Given the description of an element on the screen output the (x, y) to click on. 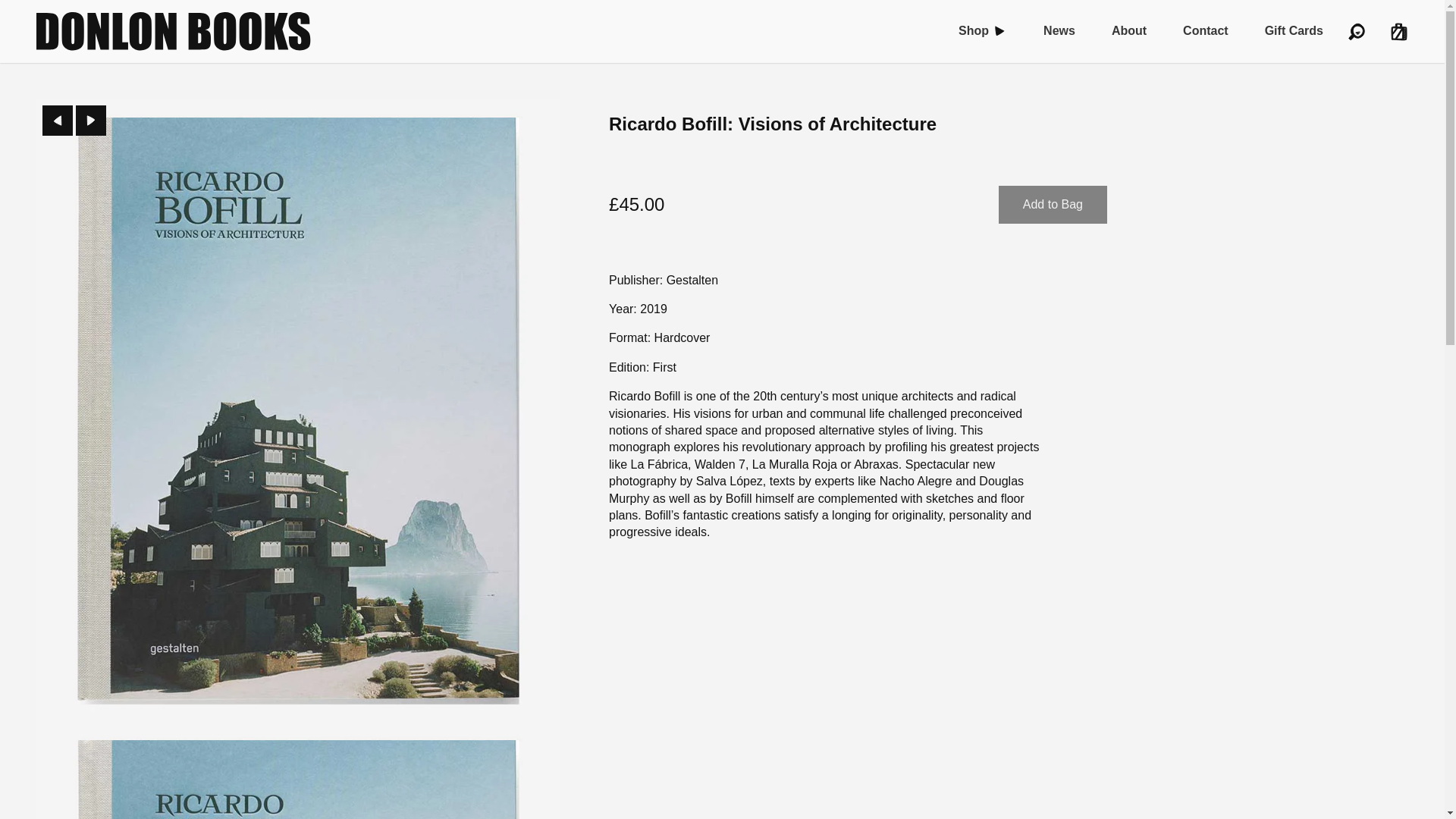
News (1059, 30)
Add to Bag (1052, 204)
Add to Bag (1052, 204)
About (1129, 30)
Shop (973, 30)
Gift Cards (1294, 30)
Contact (1205, 30)
